Given the description of an element on the screen output the (x, y) to click on. 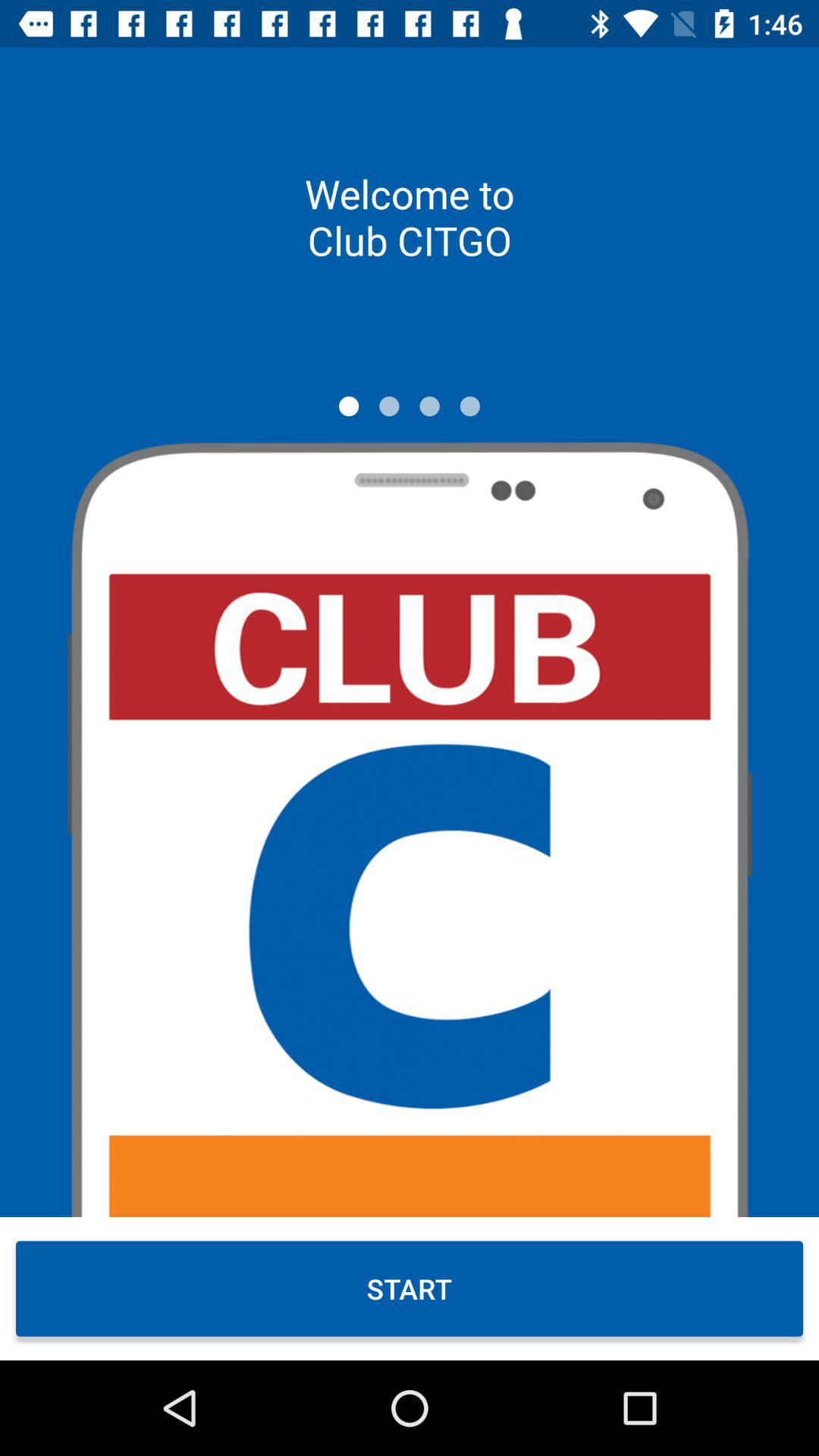
tap icon below the welcome to club (429, 406)
